Given the description of an element on the screen output the (x, y) to click on. 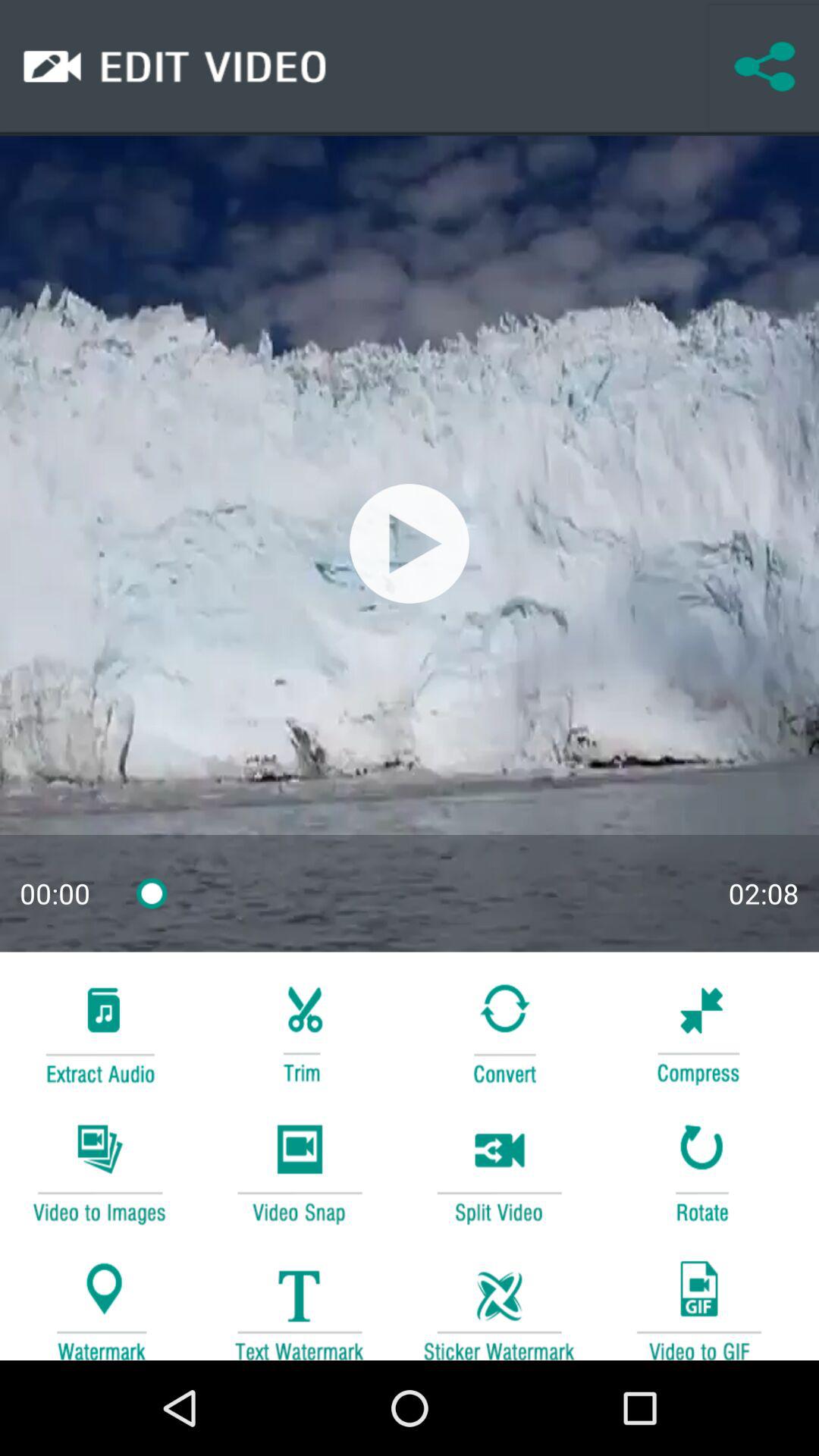
trim button (299, 1032)
